Given the description of an element on the screen output the (x, y) to click on. 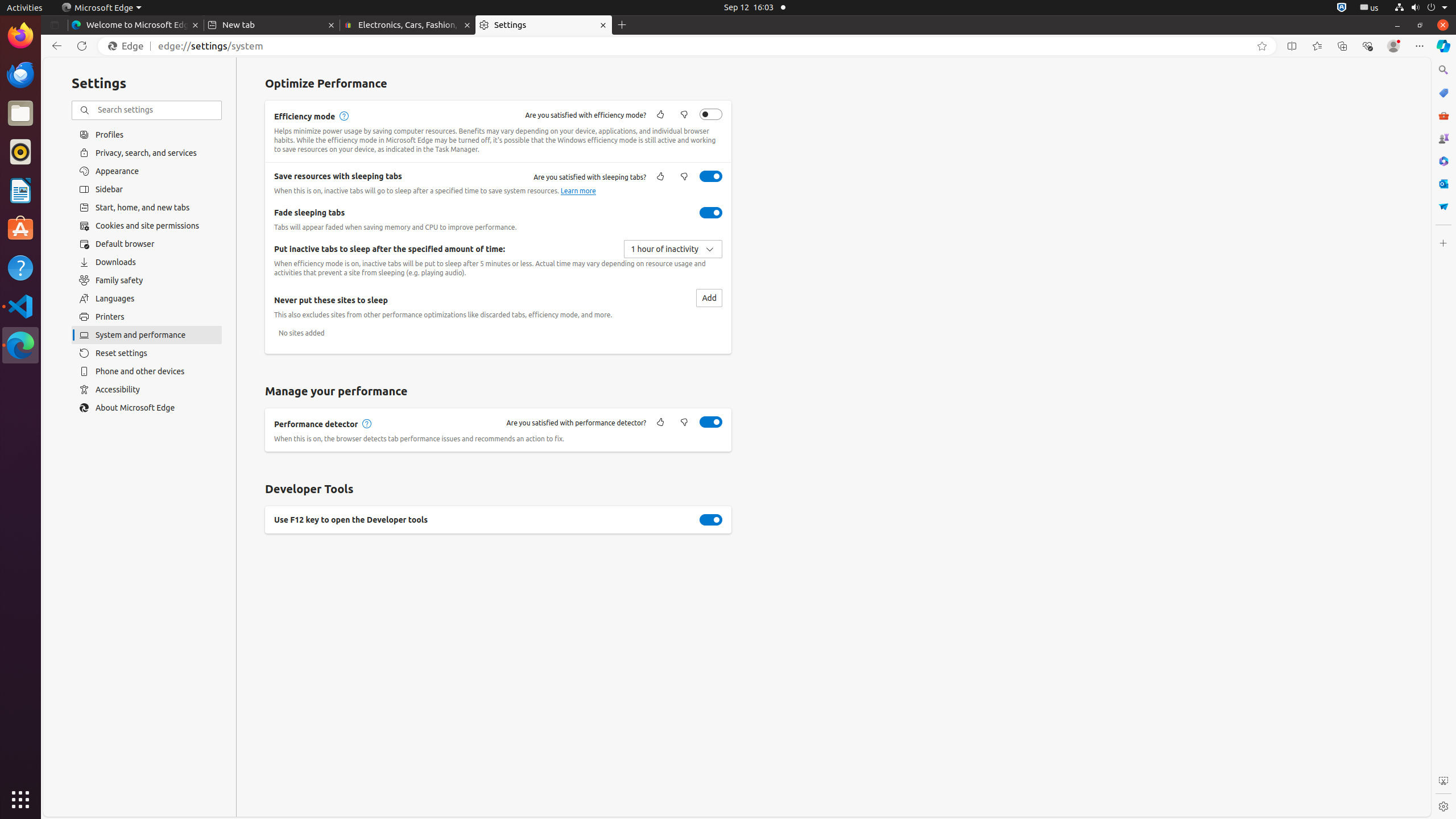
Start, home, and new tabs Element type: tree-item (146, 207)
Appearance Element type: tree-item (146, 171)
Profile 1 Profile, Please sign in Element type: push-button (1392, 46)
Languages Element type: tree-item (146, 298)
Customize Element type: push-button (1443, 243)
